Given the description of an element on the screen output the (x, y) to click on. 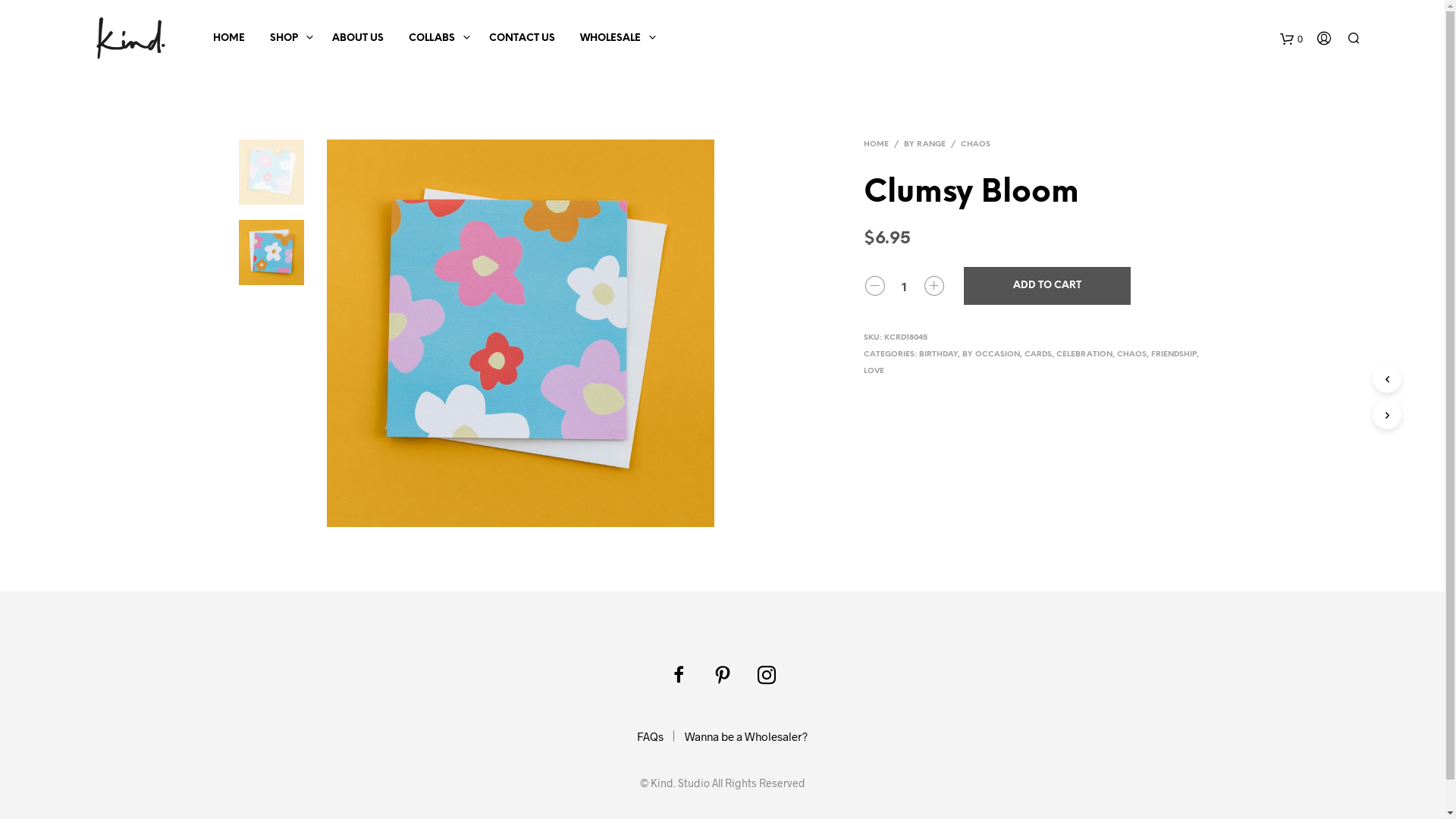
FAQs Element type: text (650, 736)
Do good with our paper goods Element type: hover (129, 37)
Qty Element type: hover (904, 286)
ADD TO CART Element type: text (1046, 285)
LOVE Element type: text (873, 371)
BY RANGE Element type: text (924, 144)
WHOLESALE Element type: text (610, 37)
SHOP Element type: text (282, 37)
0 Element type: text (1291, 37)
CONTACT US Element type: text (521, 37)
BY OCCASION Element type: text (990, 354)
CARDS Element type: text (1037, 354)
Wanna be a Wholesaler? Element type: text (745, 736)
COLLABS Element type: text (431, 37)
ABOUT US Element type: text (357, 37)
HOME Element type: text (228, 37)
FRIENDSHIP Element type: text (1173, 354)
HOME Element type: text (878, 144)
CELEBRATION Element type: text (1084, 354)
CHAOS Element type: text (975, 144)
BIRTHDAY Element type: text (938, 354)
CHAOS Element type: text (1131, 354)
